Given the description of an element on the screen output the (x, y) to click on. 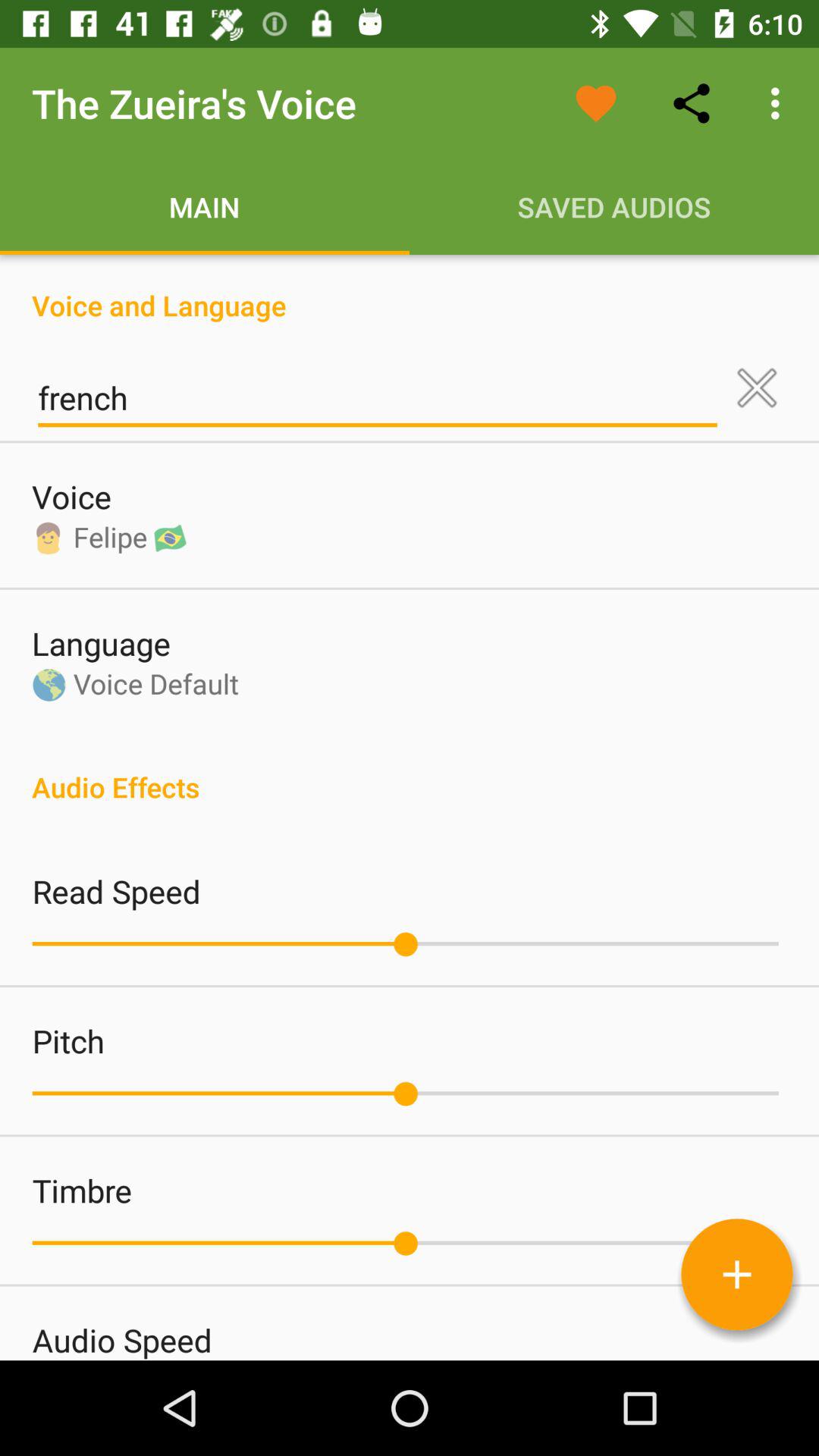
click the icon to the right of the zueira s icon (595, 103)
